Given the description of an element on the screen output the (x, y) to click on. 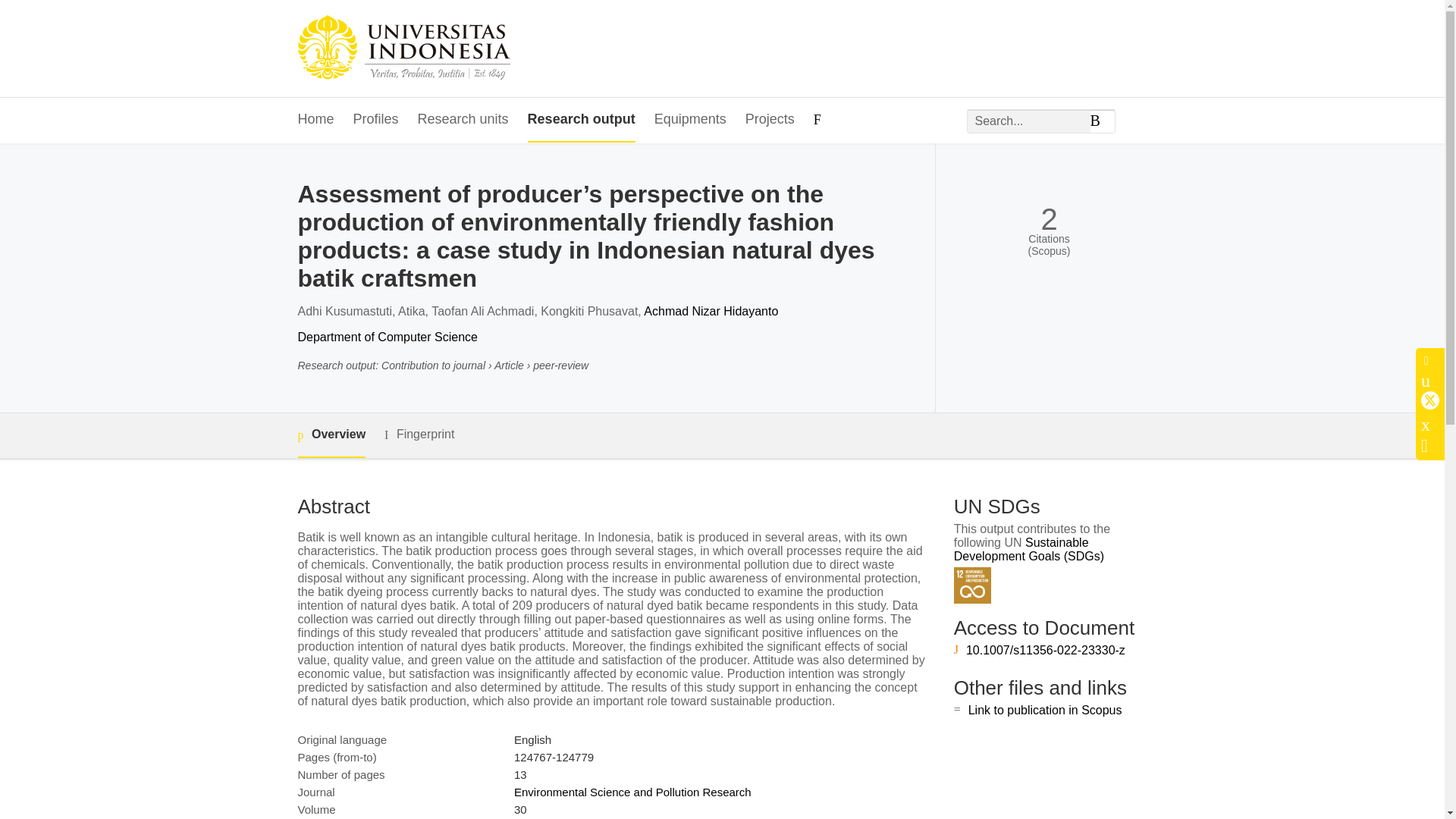
Profiles (375, 119)
Research output (580, 119)
Projects (769, 119)
Overview (331, 435)
Equipments (689, 119)
Link to publication in Scopus (1045, 709)
Department of Computer Science (387, 336)
Fingerprint (419, 434)
Universitas Indonesia Home (403, 48)
SDG 12 - Responsible Consumption and Production (972, 585)
